Given the description of an element on the screen output the (x, y) to click on. 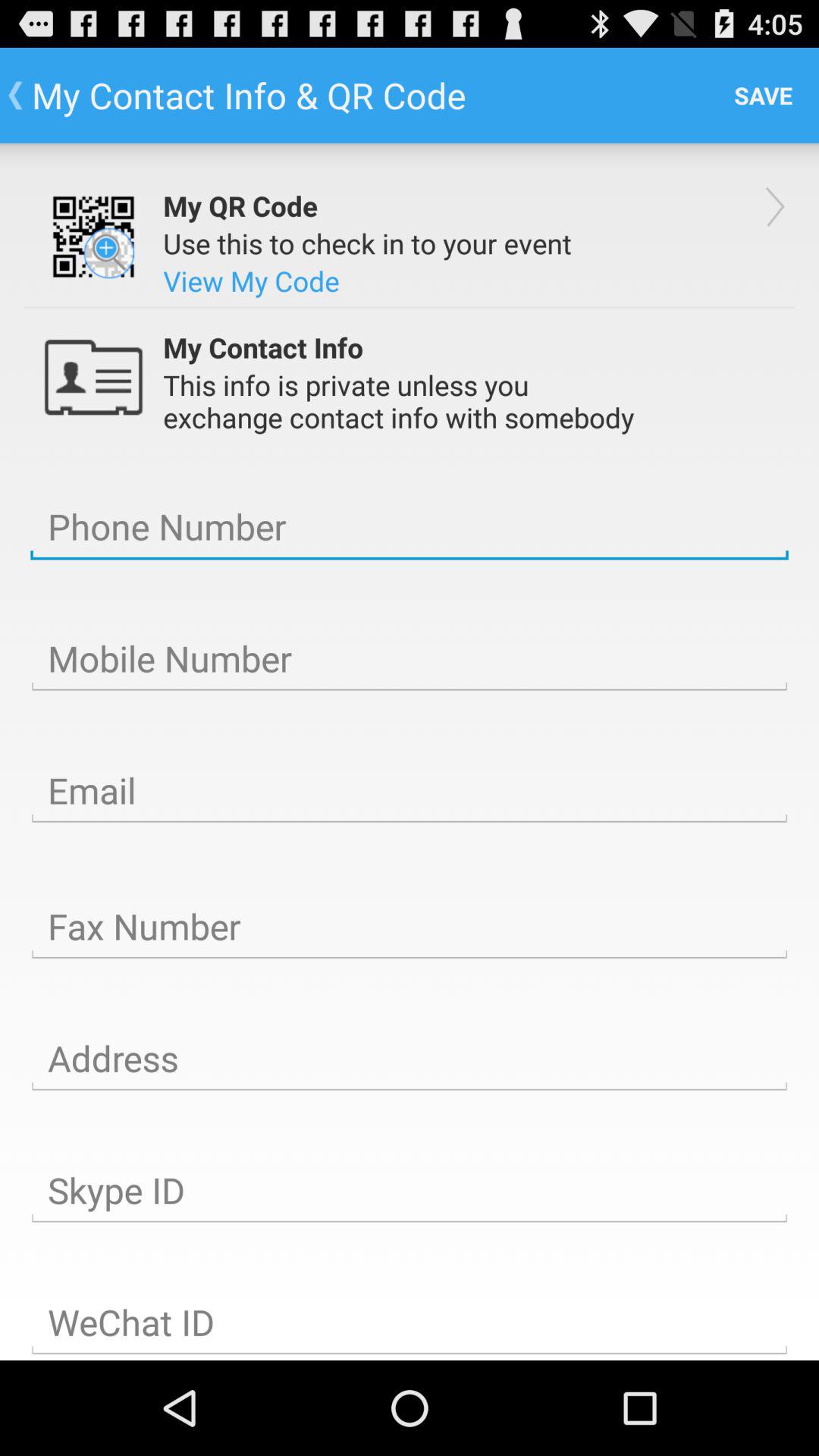
type address (409, 1058)
